Given the description of an element on the screen output the (x, y) to click on. 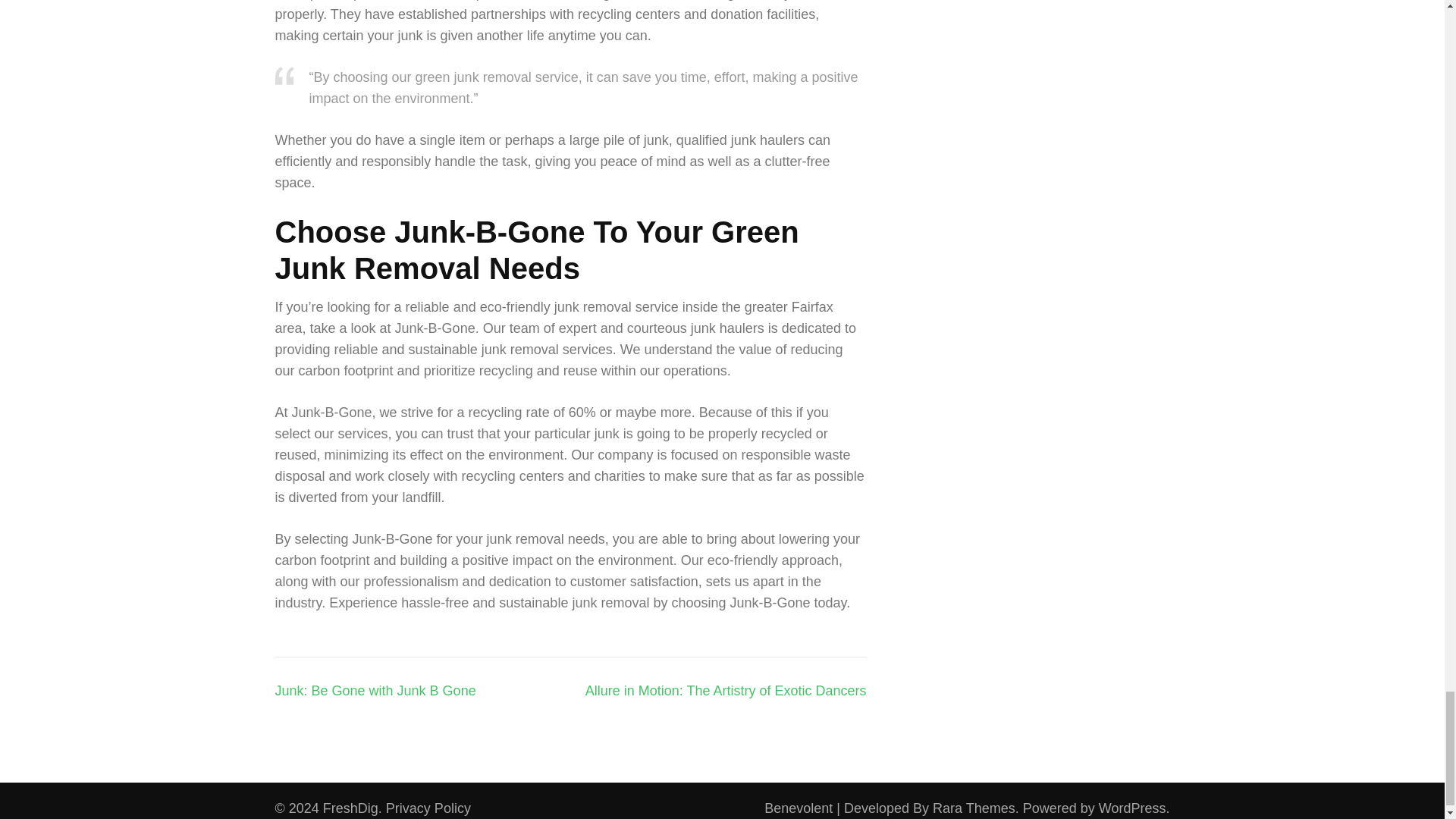
Junk: Be Gone with Junk B Gone (375, 690)
Allure in Motion: The Artistry of Exotic Dancers (725, 690)
